Given the description of an element on the screen output the (x, y) to click on. 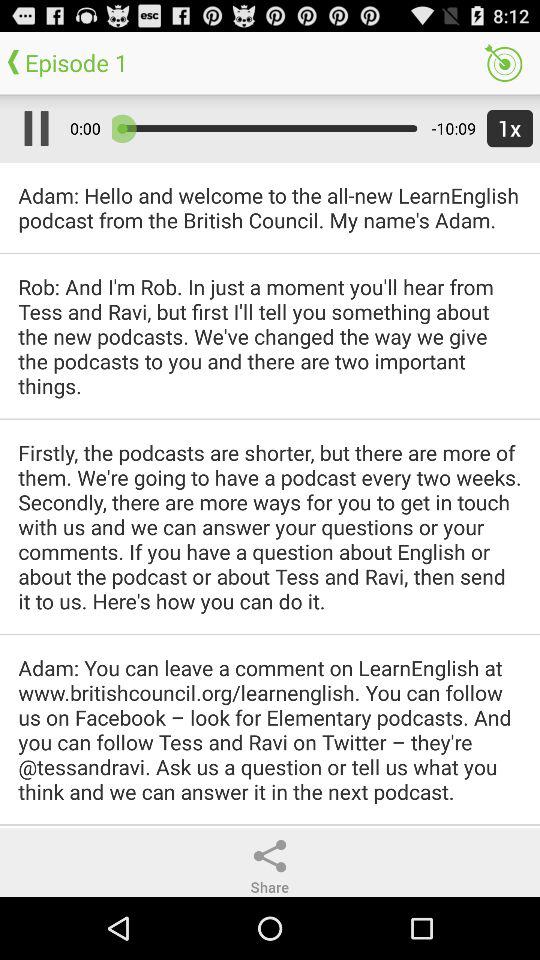
click to pause (32, 128)
